Given the description of an element on the screen output the (x, y) to click on. 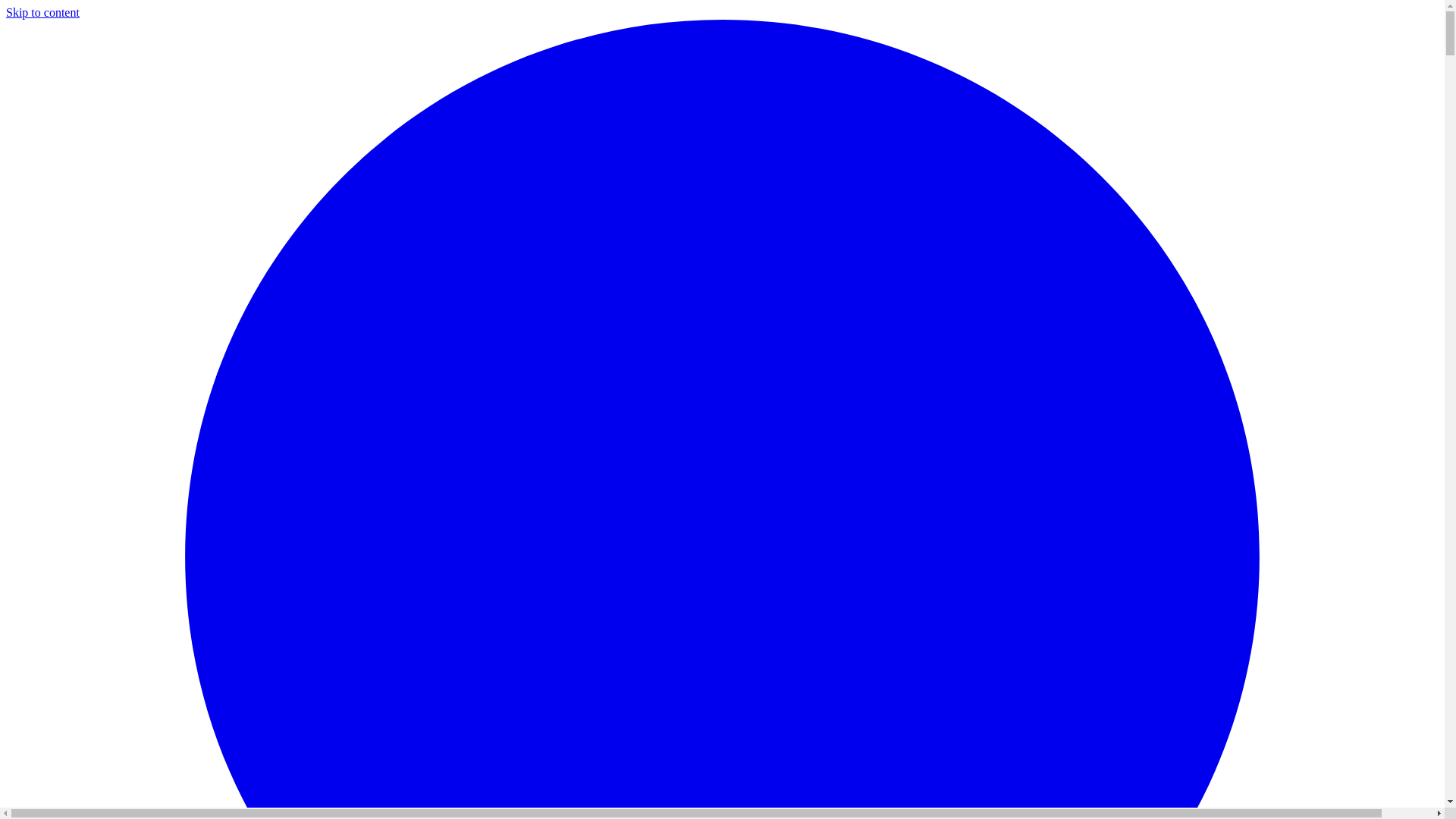
Skip to content (42, 11)
